Given the description of an element on the screen output the (x, y) to click on. 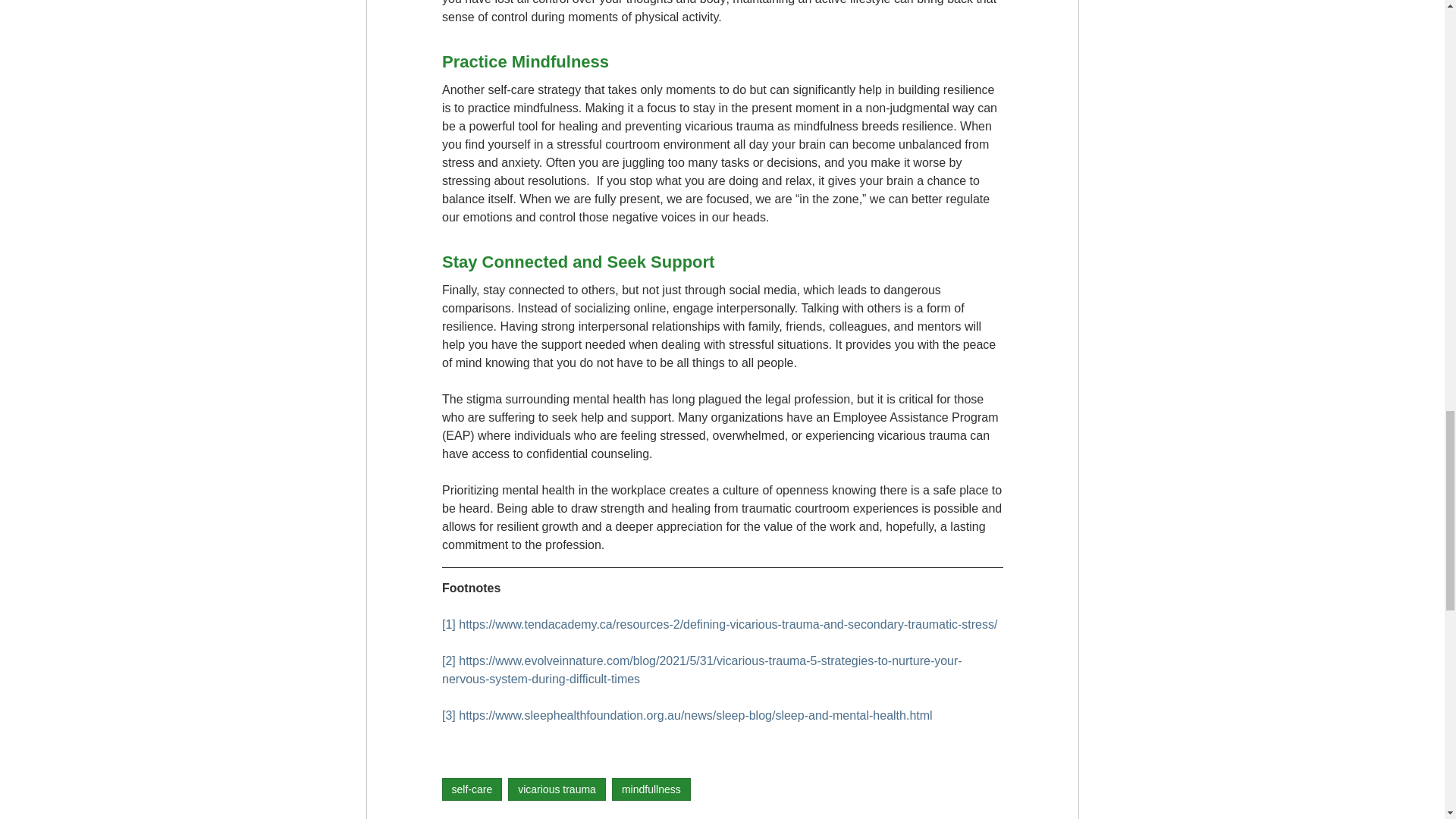
mindfullness (650, 789)
vicarious trauma (556, 789)
self-care (471, 789)
